Given the description of an element on the screen output the (x, y) to click on. 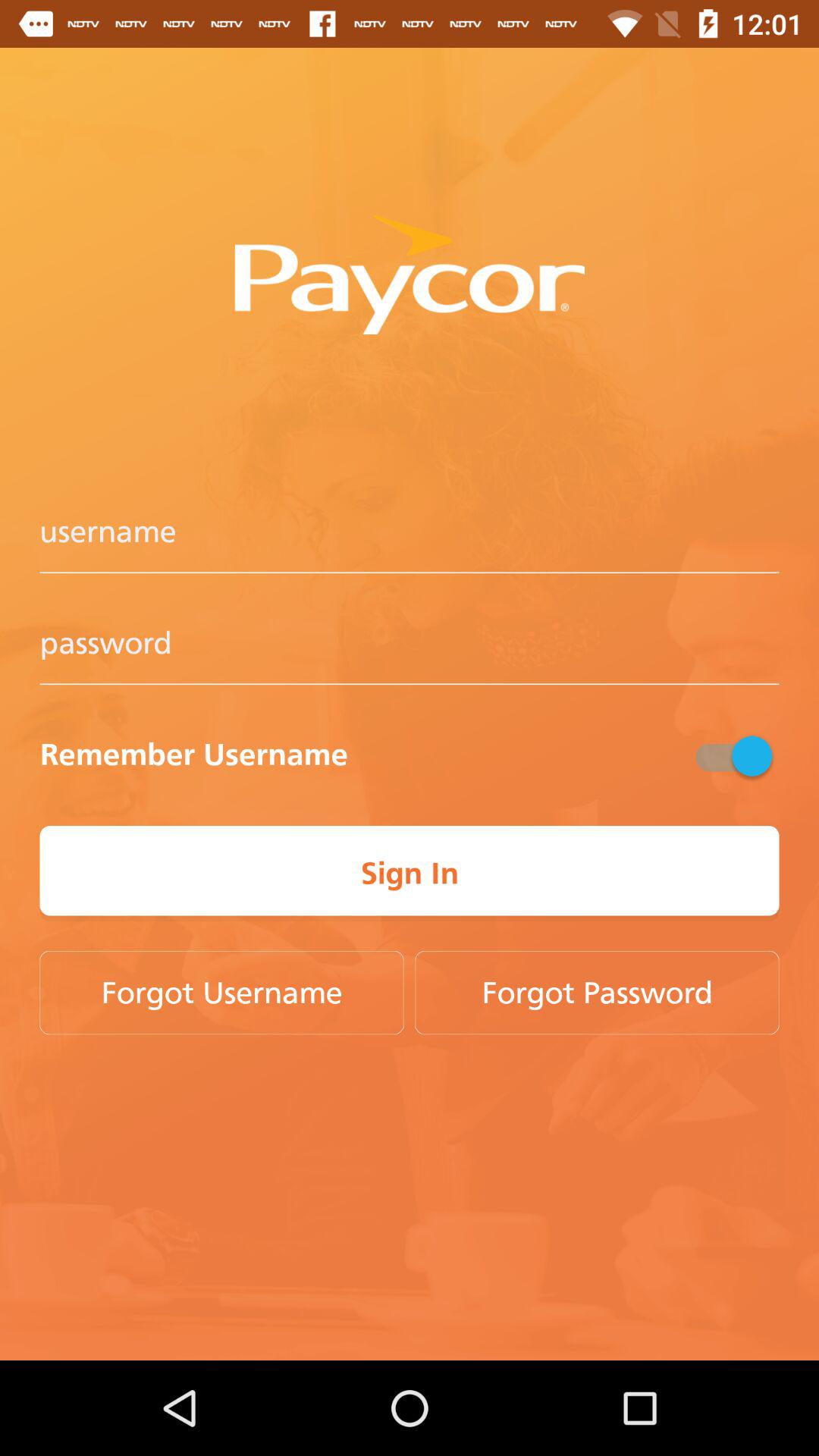
press button above sign in button (731, 755)
